Given the description of an element on the screen output the (x, y) to click on. 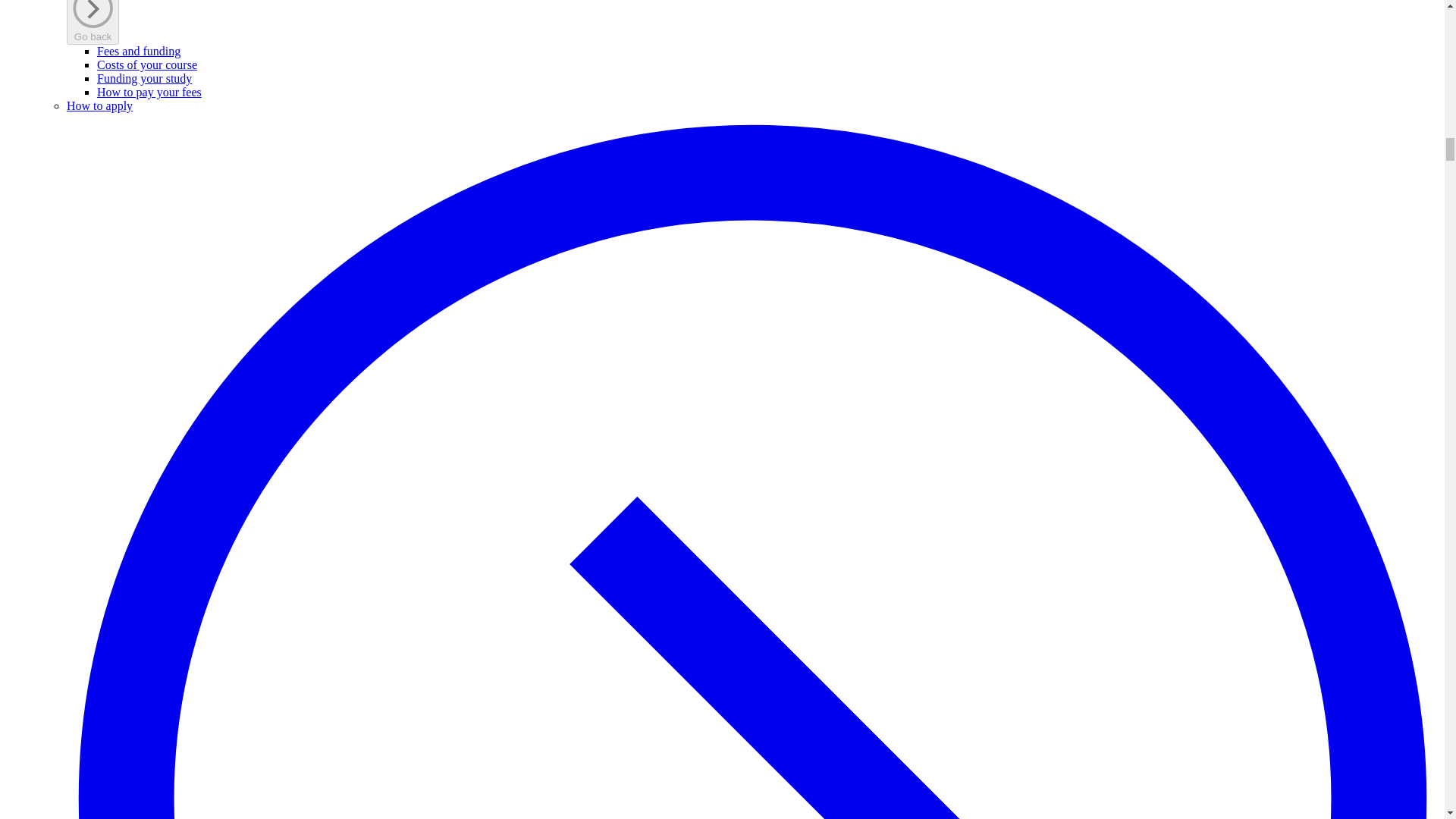
Costs of your course (146, 64)
Funding your study (144, 78)
Go back (92, 22)
How to pay your fees (149, 91)
Fees and funding (138, 51)
